Given the description of an element on the screen output the (x, y) to click on. 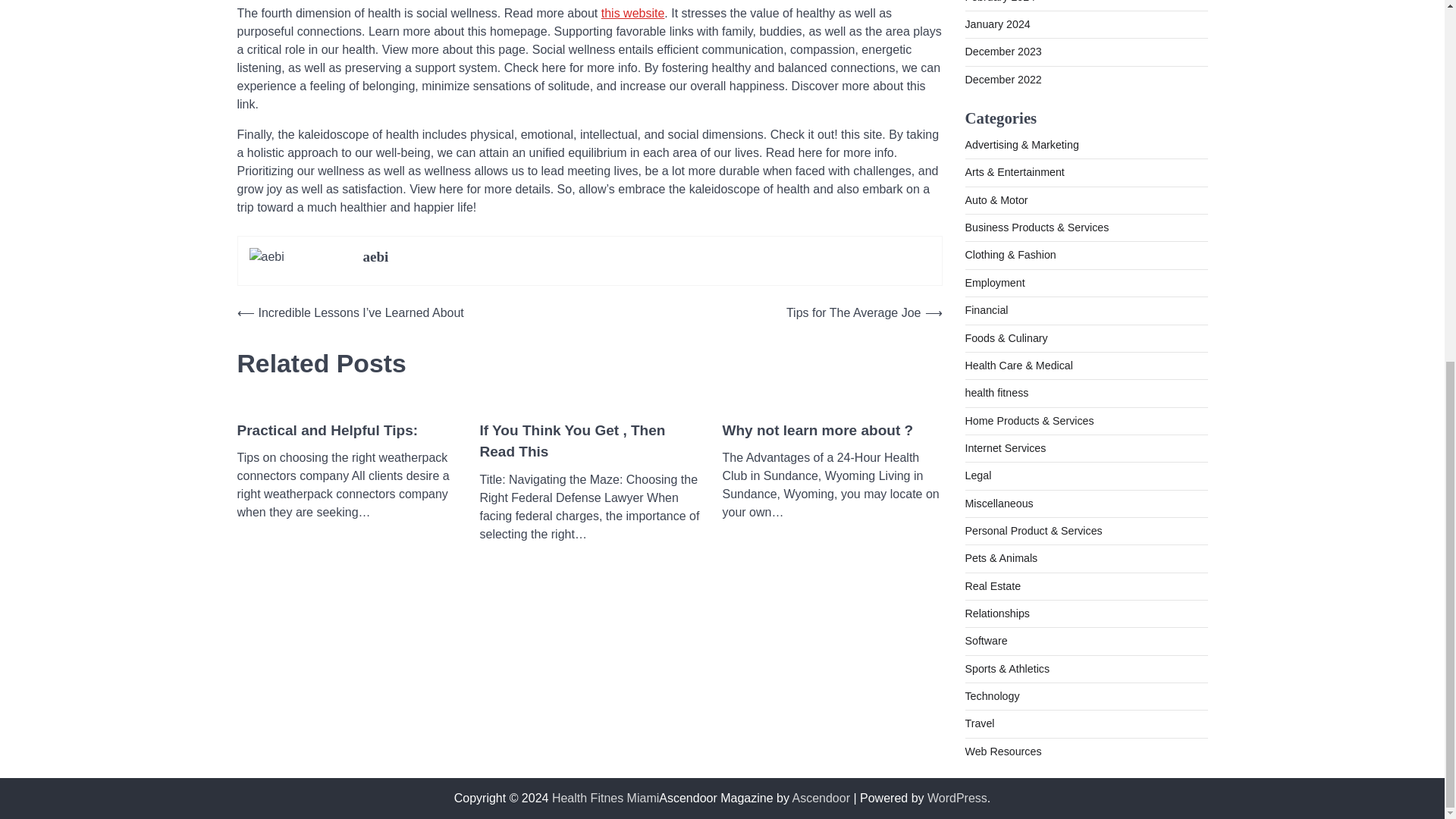
January 2024 (996, 24)
Financial (985, 309)
health fitness (995, 392)
Practical and Helpful Tips: (326, 431)
Why not learn more about ? (817, 431)
Employment (994, 282)
December 2022 (1002, 79)
this website (633, 12)
December 2023 (1002, 51)
If You Think You Get , Then Read This (588, 441)
February 2024 (999, 1)
